Given the description of an element on the screen output the (x, y) to click on. 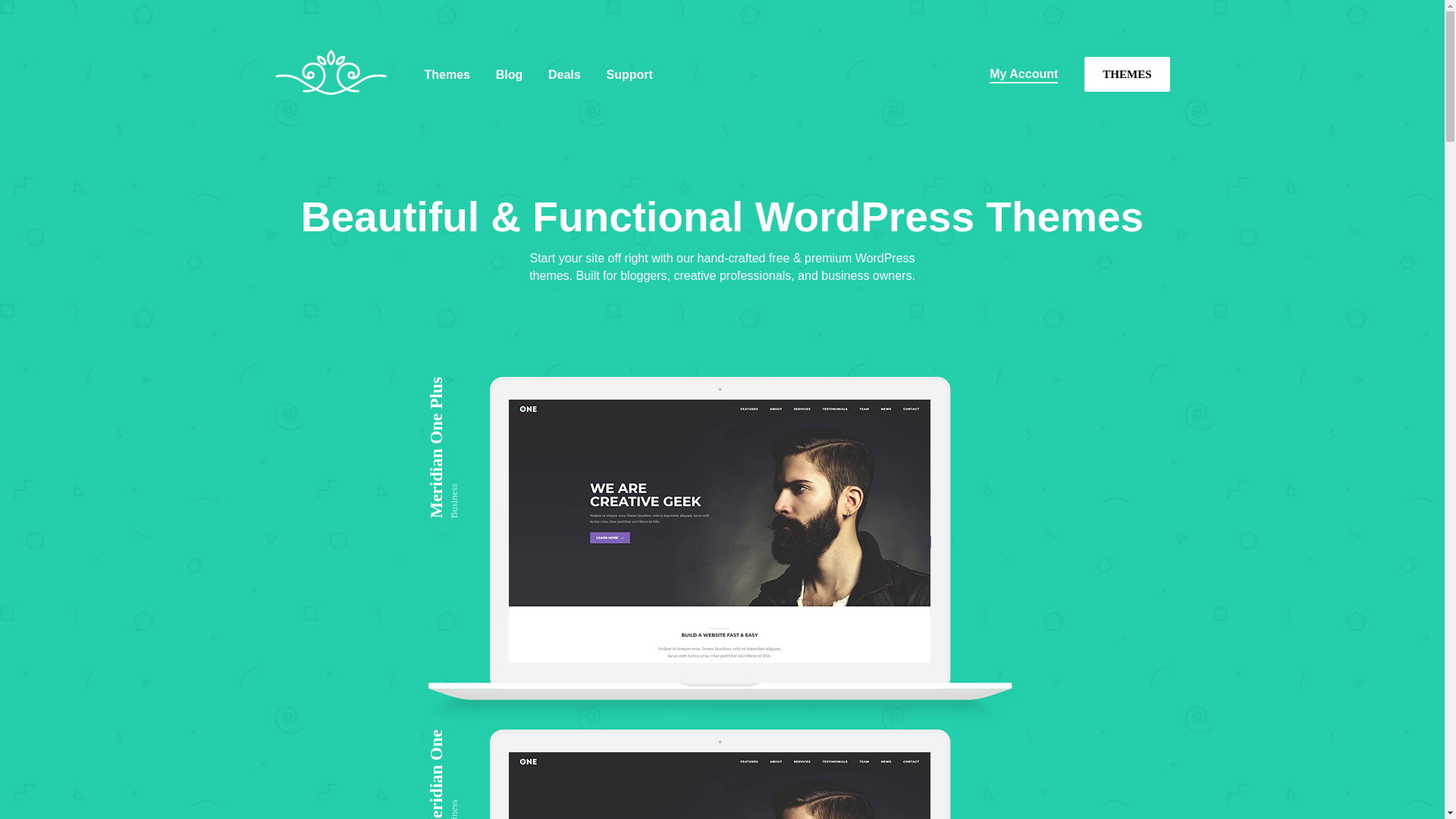
MERIDIANTHEMES (336, 117)
My Account (1024, 74)
Themes (447, 74)
Blog (509, 74)
Deals (564, 74)
Support (628, 74)
THEMES (1126, 73)
